Given the description of an element on the screen output the (x, y) to click on. 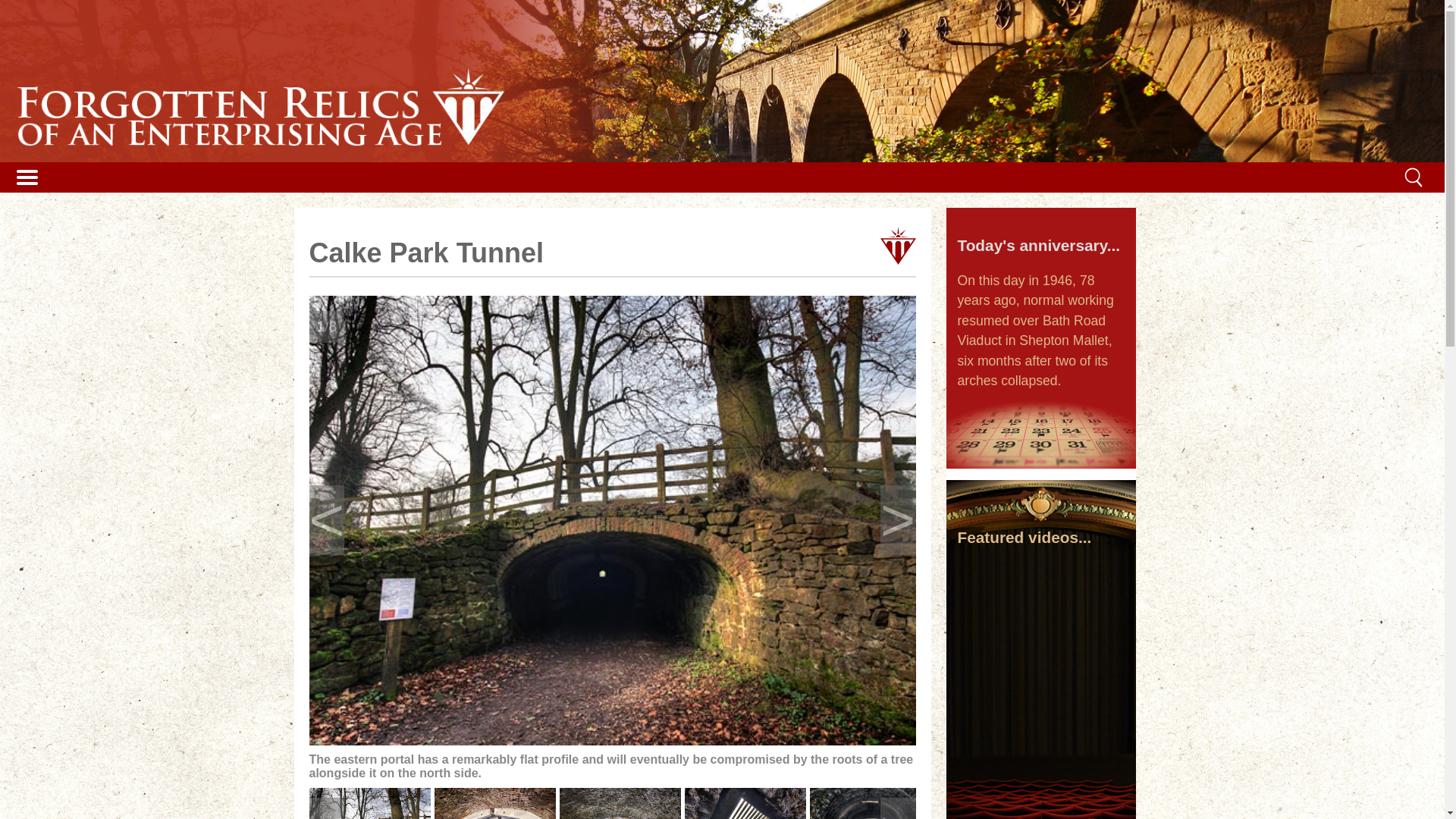
YouTube video player (1040, 707)
YouTube video player (1040, 608)
